Given the description of an element on the screen output the (x, y) to click on. 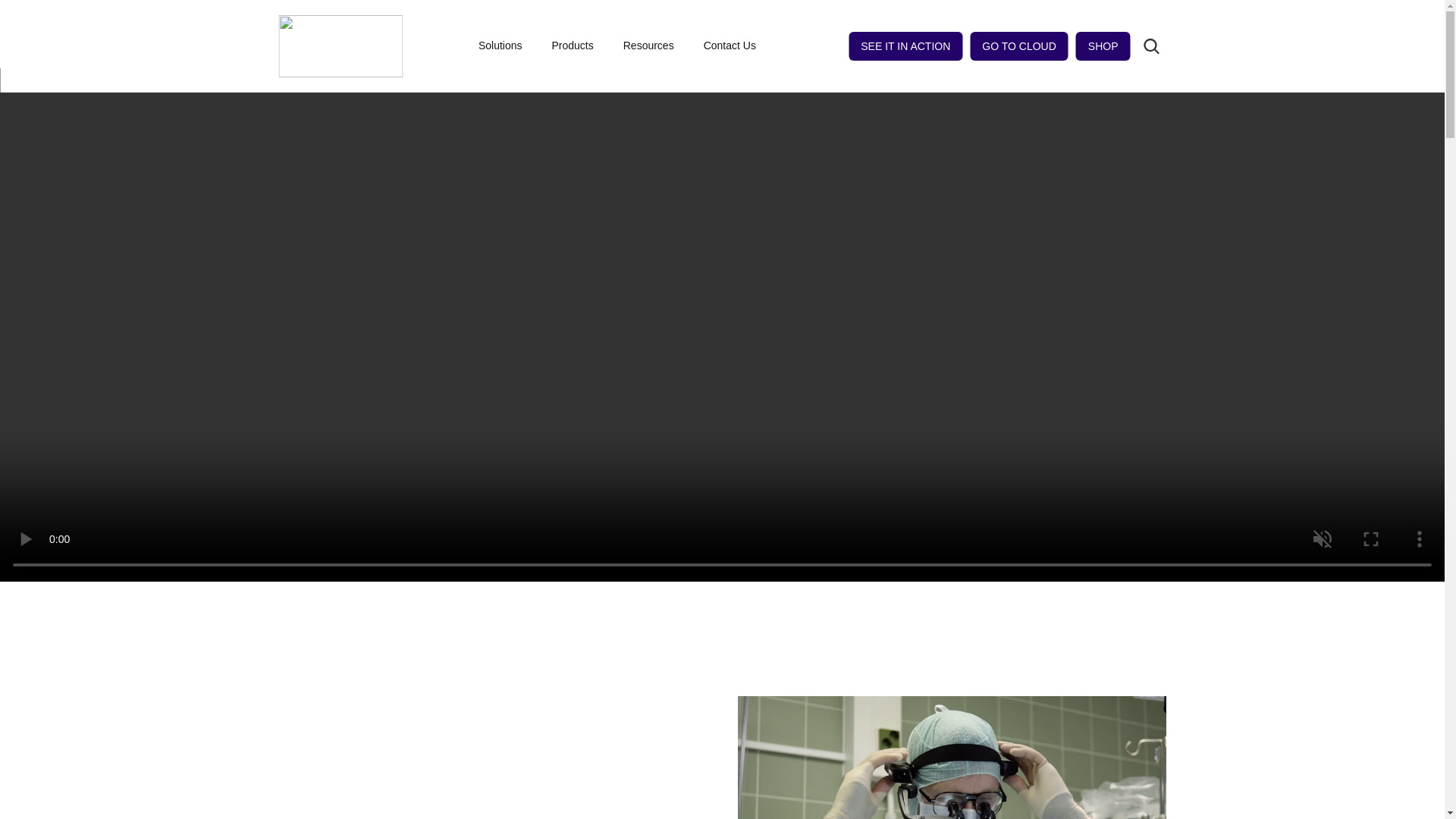
Products (578, 46)
Contact Us (728, 46)
SHOP (1103, 45)
Solutions (507, 46)
Resources (655, 46)
SEE IT IN ACTION (905, 45)
GO TO CLOUD (1018, 45)
